Given the description of an element on the screen output the (x, y) to click on. 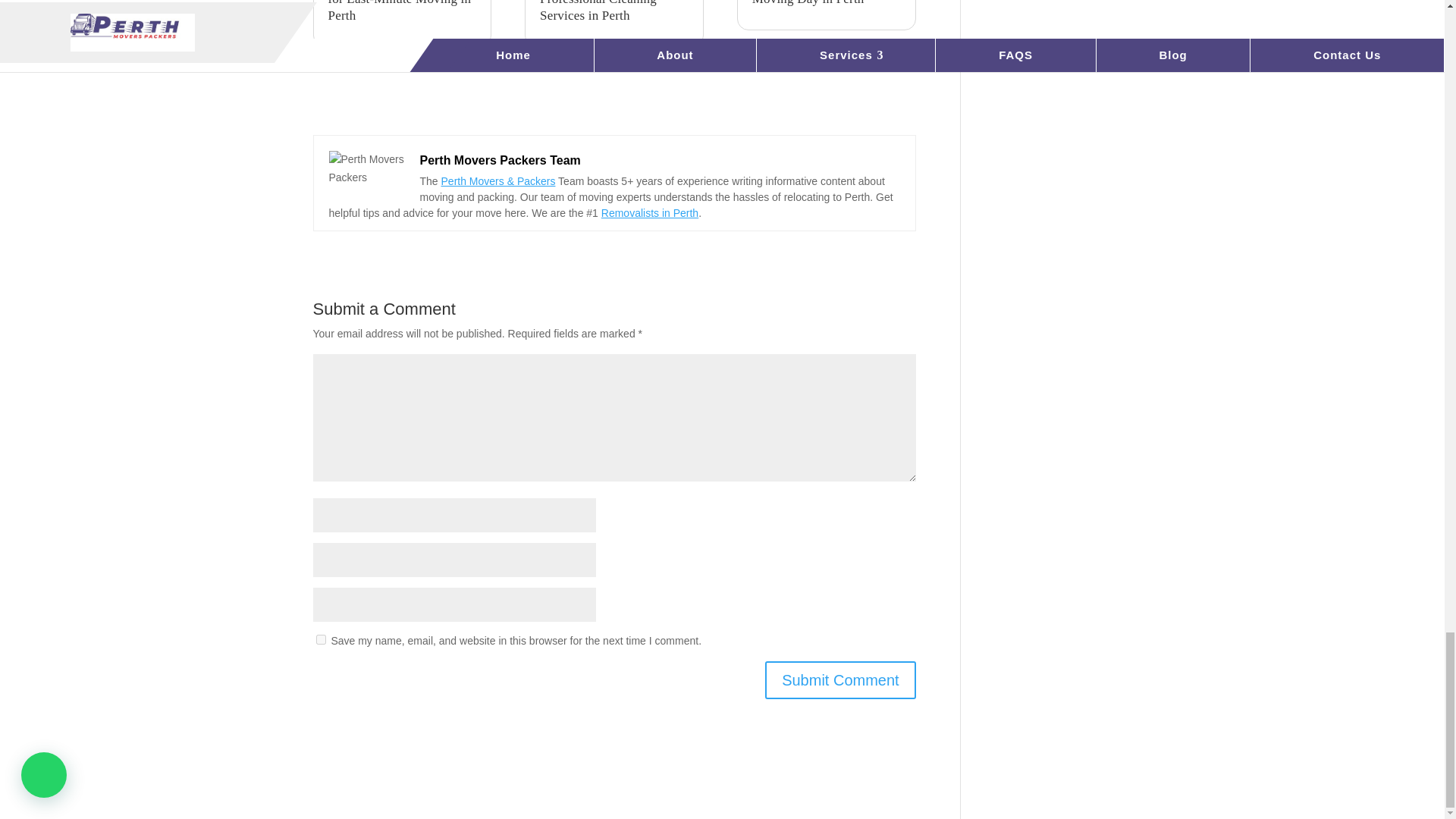
5 Insider Tips for Easy House Removal in Perth (366, 168)
yes (319, 639)
Submit Comment (840, 679)
